Given the description of an element on the screen output the (x, y) to click on. 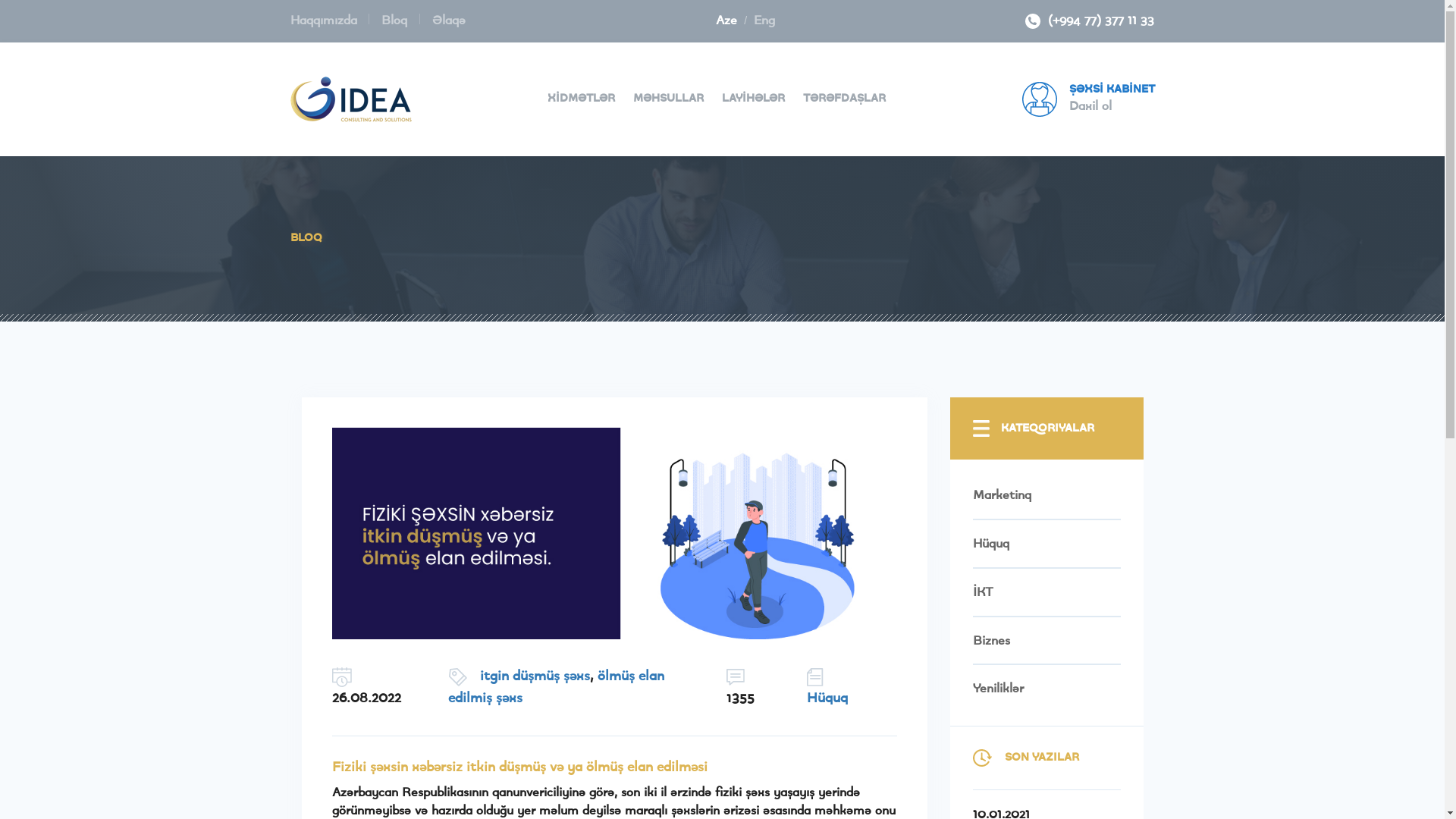
Marketinq Element type: text (1046, 502)
Daxil ol Element type: text (1090, 105)
Eng Element type: text (764, 20)
Biznes Element type: text (1046, 640)
Aze Element type: text (726, 20)
Bloq Element type: text (394, 20)
